Given the description of an element on the screen output the (x, y) to click on. 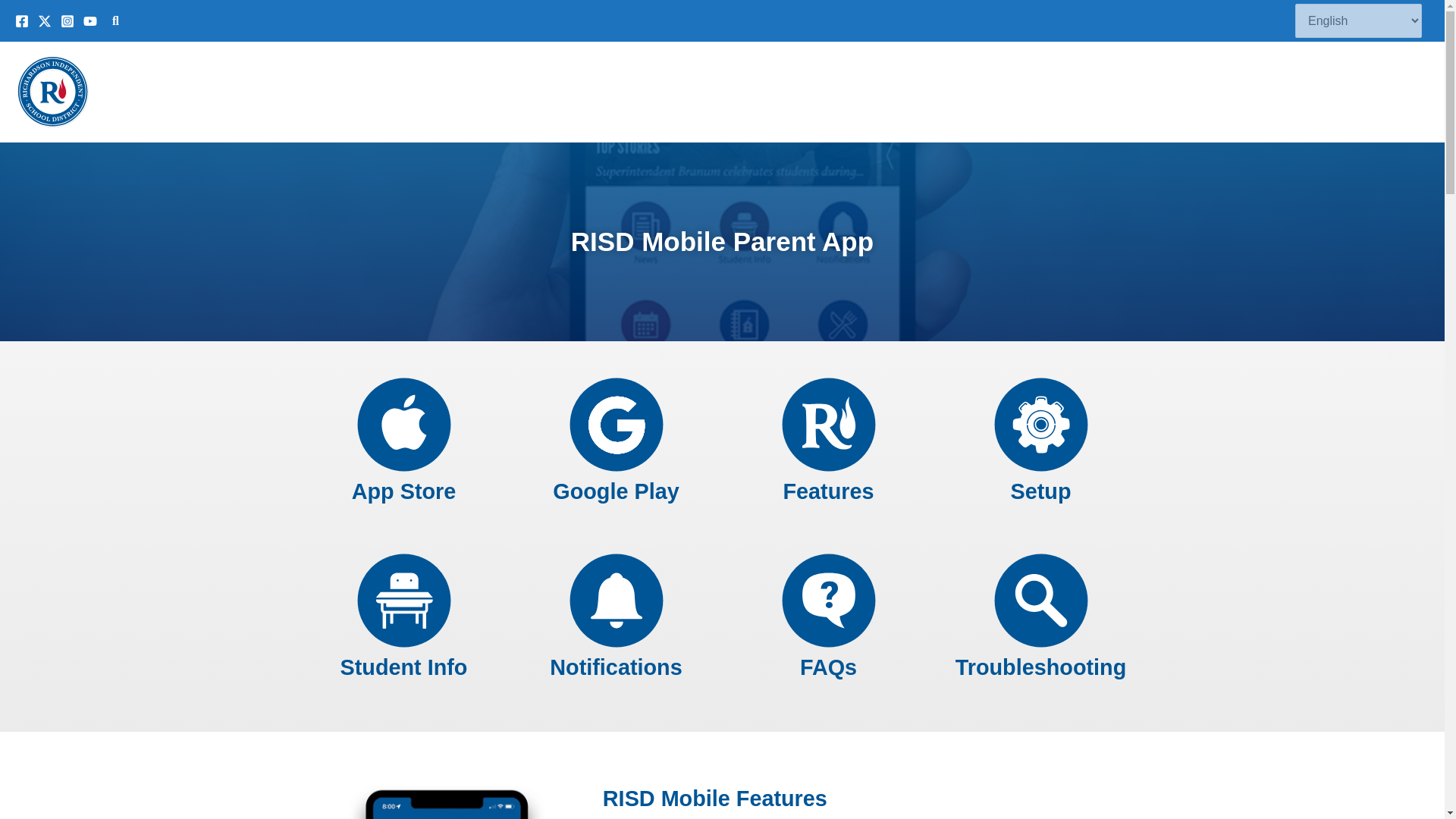
Calendars (853, 91)
Schools (1033, 91)
About (777, 91)
Departments (944, 91)
